Given the description of an element on the screen output the (x, y) to click on. 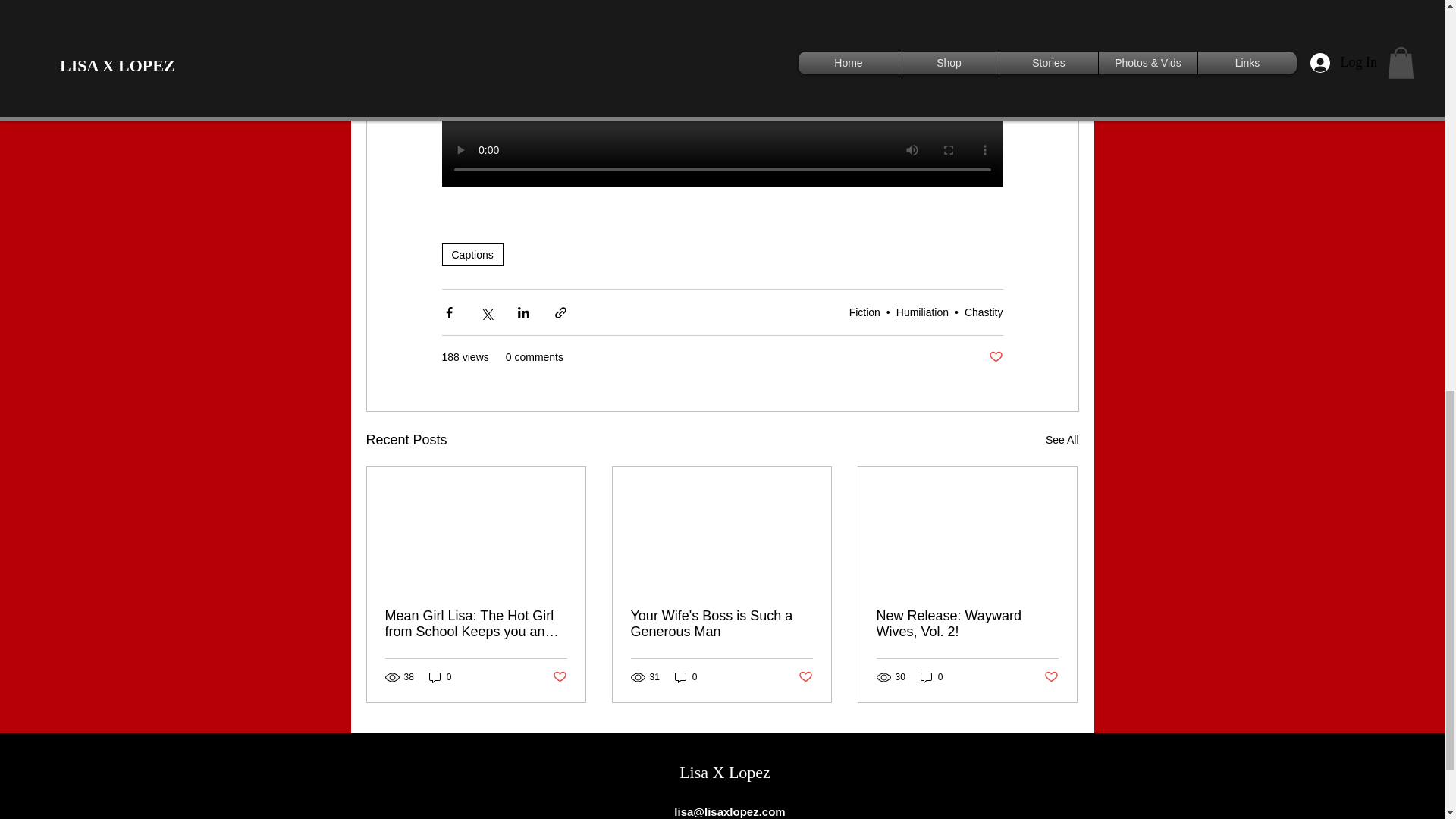
Fiction (864, 312)
Humiliation (922, 312)
Captions (471, 254)
